Given the description of an element on the screen output the (x, y) to click on. 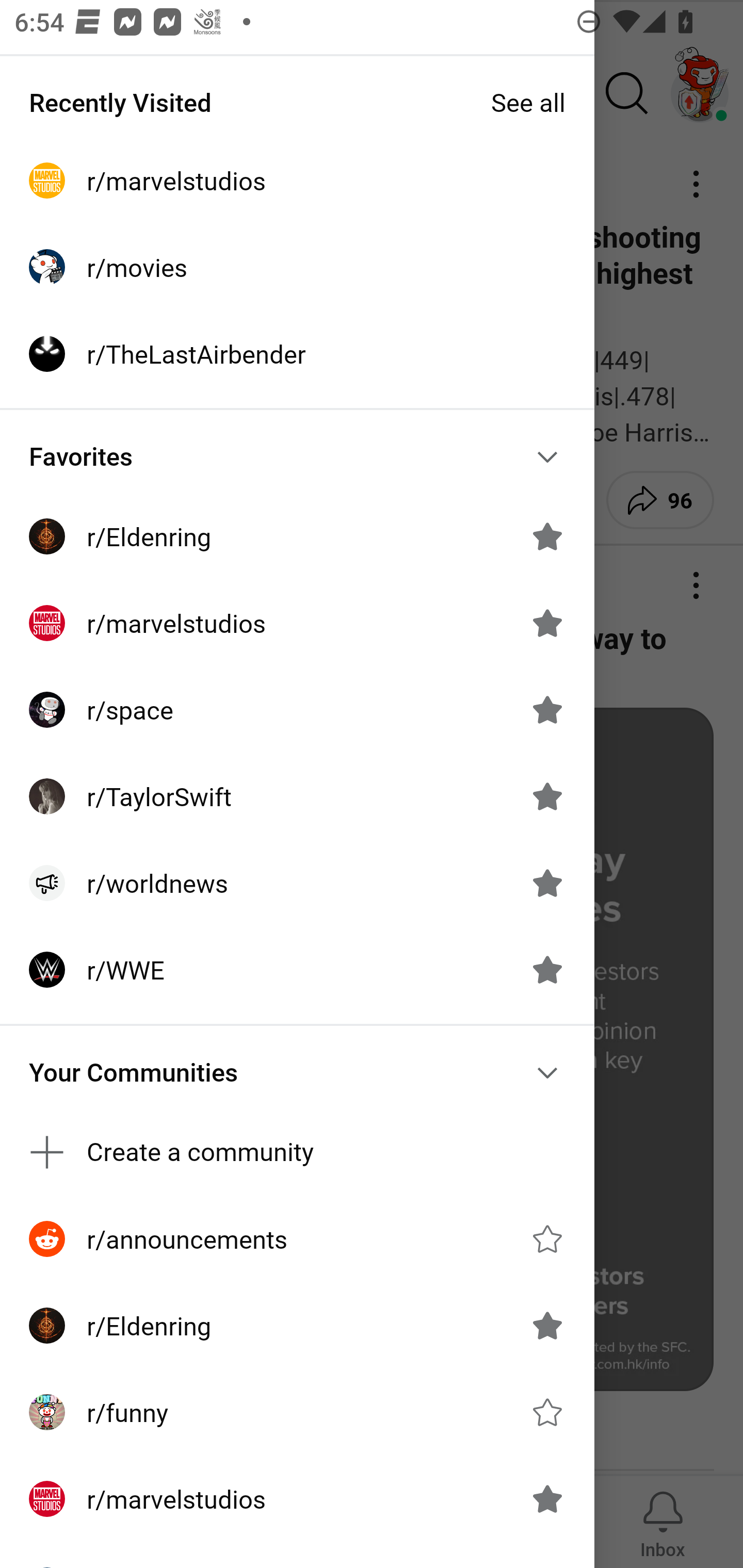
Recently Visited See all (297, 102)
See all (528, 102)
r/marvelstudios (297, 180)
r/movies (297, 267)
r/TheLastAirbender (297, 353)
Favorites (297, 456)
r/Eldenring Unfavorite r/Eldenring (297, 536)
Unfavorite r/Eldenring (546, 536)
r/marvelstudios Unfavorite r/marvelstudios (297, 623)
Unfavorite r/marvelstudios (546, 623)
r/space Unfavorite r/space (297, 709)
Unfavorite r/space (546, 709)
r/TaylorSwift Unfavorite r/TaylorSwift (297, 796)
Unfavorite r/TaylorSwift (546, 796)
r/worldnews Unfavorite r/worldnews (297, 883)
Unfavorite r/worldnews (546, 882)
r/WWE Unfavorite r/WWE (297, 969)
Unfavorite r/WWE (546, 969)
Your Communities (297, 1072)
Create a community (297, 1151)
r/announcements Favorite r/announcements (297, 1238)
Favorite r/announcements (546, 1238)
r/Eldenring Unfavorite r/Eldenring (297, 1325)
Unfavorite r/Eldenring (546, 1325)
r/funny Favorite r/funny (297, 1411)
Favorite r/funny (546, 1411)
r/marvelstudios Unfavorite r/marvelstudios (297, 1498)
Unfavorite r/marvelstudios (546, 1498)
